Given the description of an element on the screen output the (x, y) to click on. 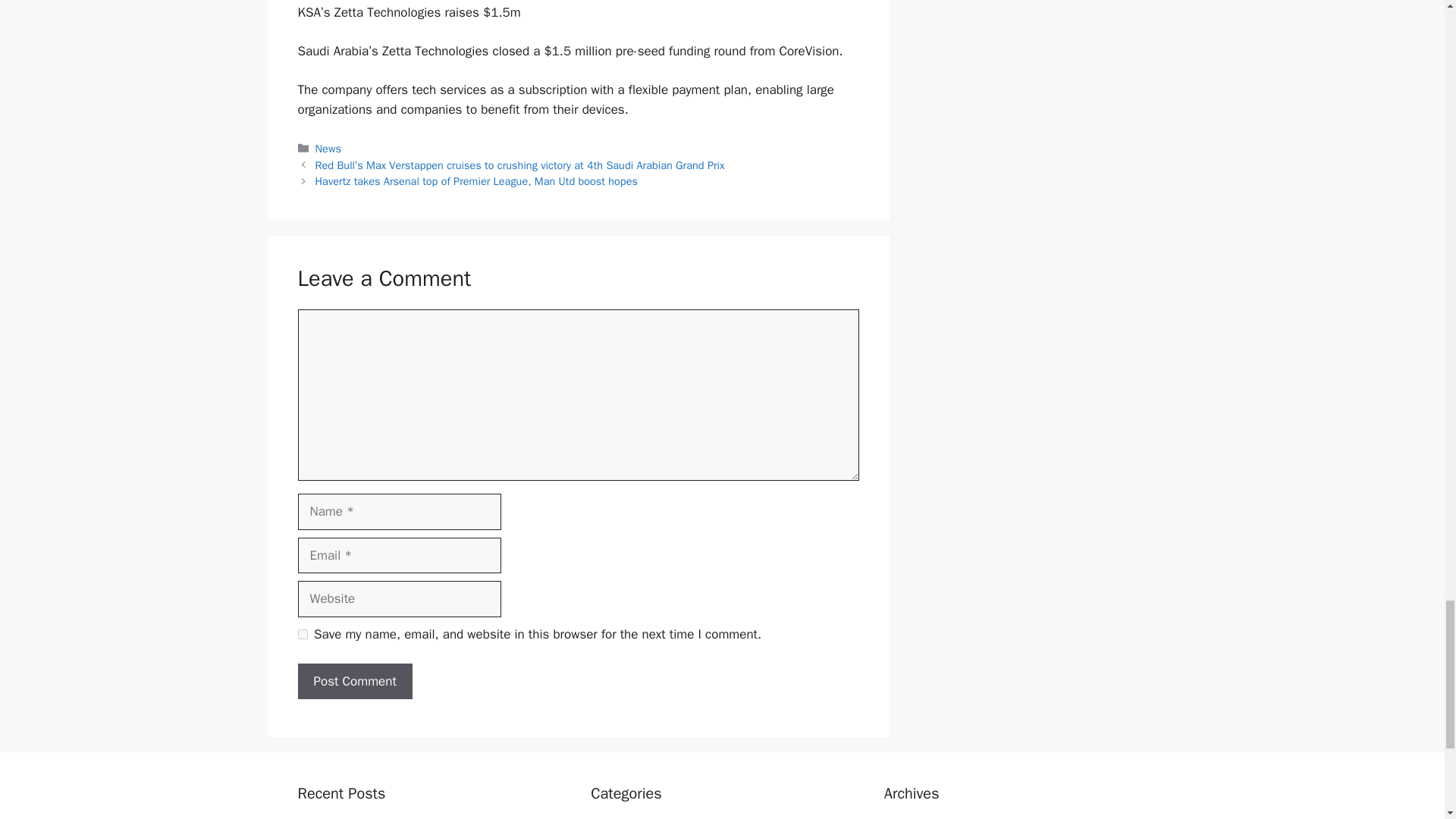
News (327, 148)
yes (302, 634)
Post Comment (354, 681)
Post Comment (354, 681)
